Given the description of an element on the screen output the (x, y) to click on. 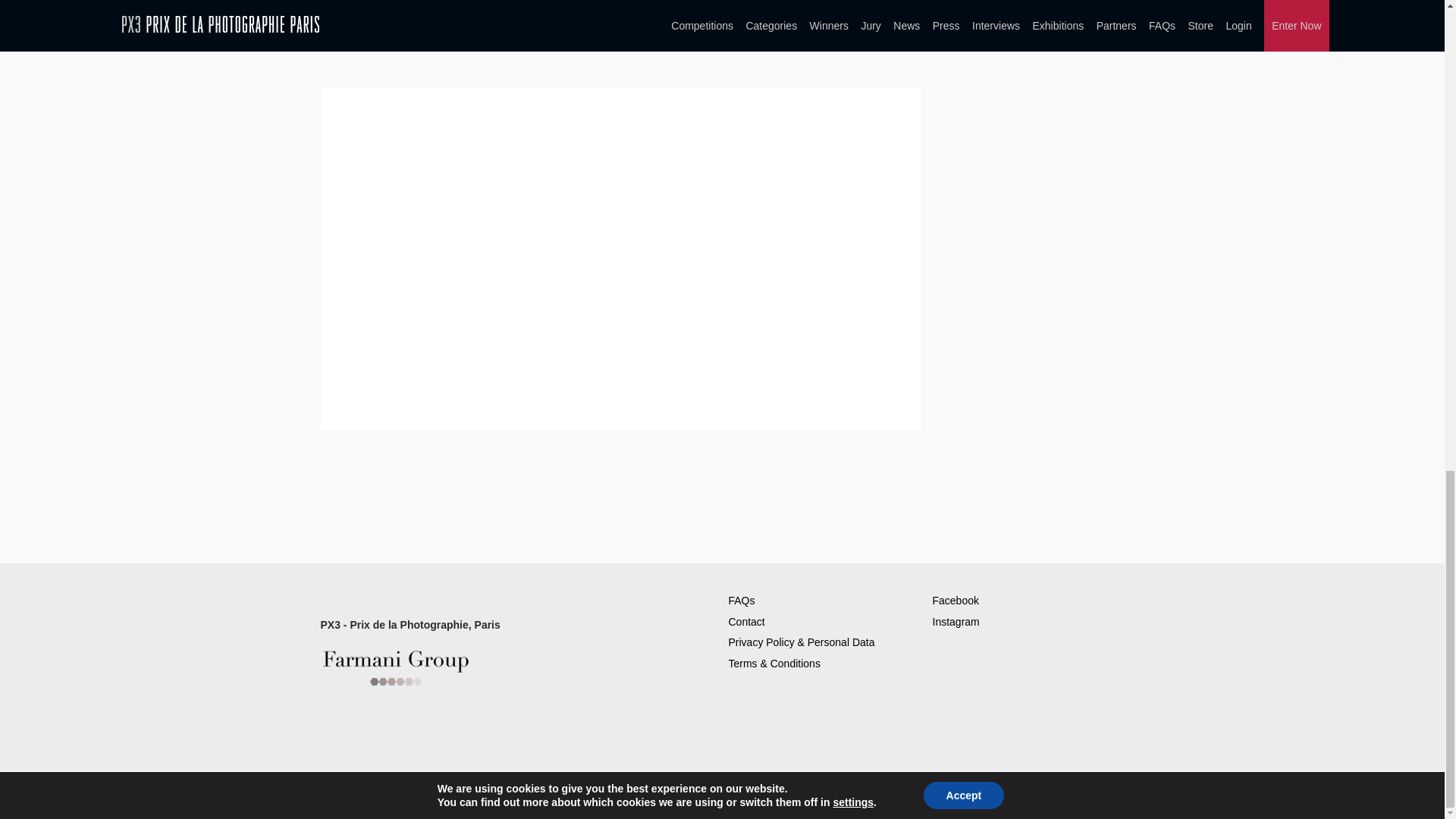
Contact (746, 621)
FAQs (741, 600)
Instagram (956, 621)
Facebook (955, 600)
